Given the description of an element on the screen output the (x, y) to click on. 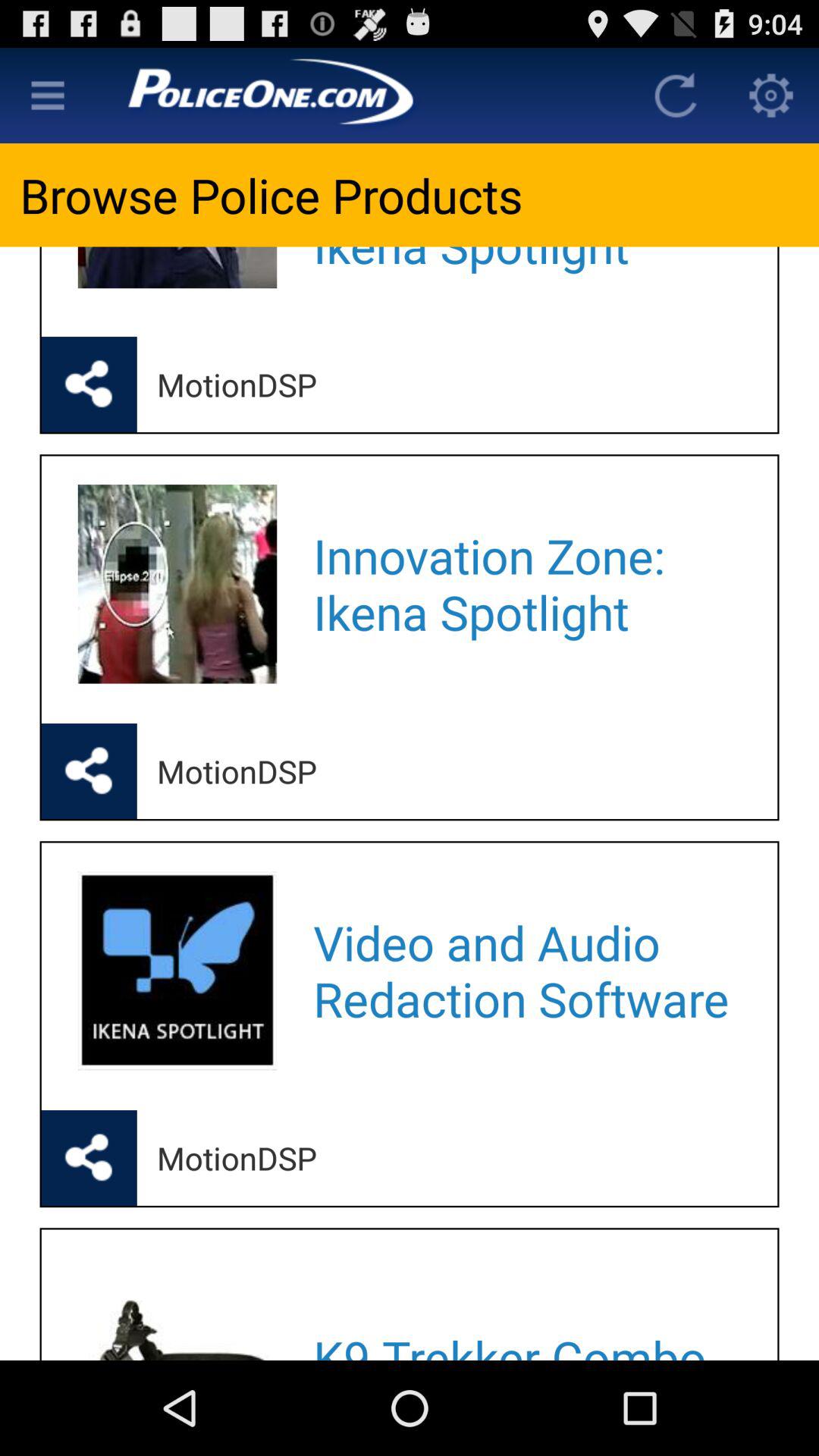
share article (89, 771)
